Given the description of an element on the screen output the (x, y) to click on. 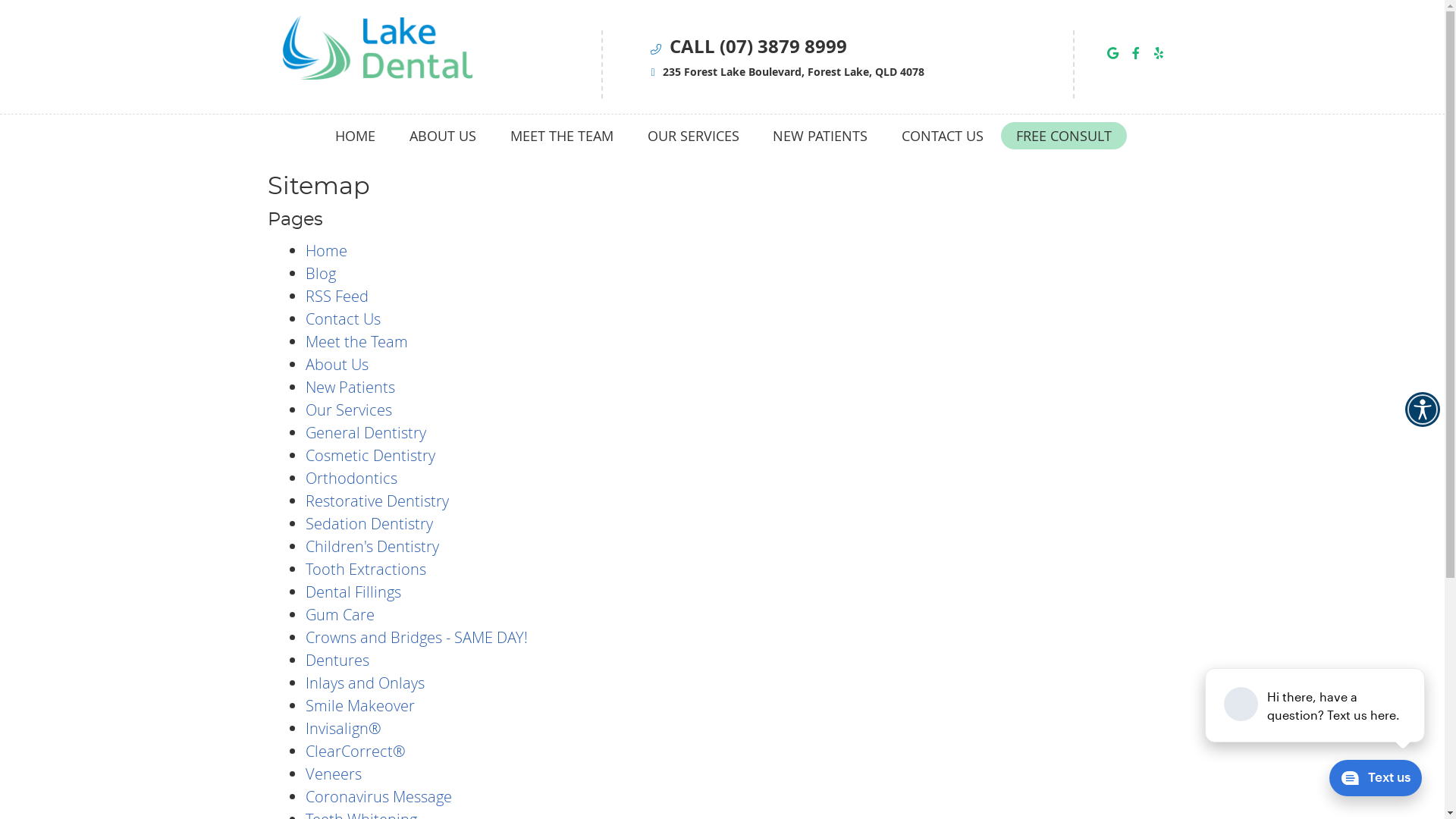
About Us Element type: text (335, 364)
Children's Dentistry Element type: text (371, 546)
Sedation Dentistry Element type: text (368, 523)
Smile Makeover Element type: text (359, 705)
ABOUT US Element type: text (442, 135)
New Patients Element type: text (349, 386)
Home Element type: text (325, 250)
Dental Fillings Element type: text (352, 591)
Lake Dental Element type: text (376, 73)
Crowns and Bridges - SAME DAY! Element type: text (415, 637)
Dentures Element type: text (336, 659)
FREE CONSULT Element type: text (1063, 135)
Veneers Element type: text (332, 773)
NEW PATIENTS Element type: text (819, 135)
CONTACT US Element type: text (942, 135)
Restorative Dentistry Element type: text (376, 500)
MEET THE TEAM Element type: text (561, 135)
Contact Us Element type: text (341, 318)
Our Services Element type: text (347, 409)
(07) 3879 8999 Element type: text (782, 46)
Cosmetic Dentistry Element type: text (369, 455)
Inlays and Onlays Element type: text (363, 682)
HOME Element type: text (355, 135)
Coronavirus Message Element type: text (377, 796)
Google Social Button Element type: text (1113, 52)
Orthodontics Element type: text (350, 477)
Gum Care Element type: text (338, 614)
Meet the Team Element type: text (355, 341)
Facebook Social Button Element type: text (1135, 52)
Tooth Extractions Element type: text (364, 568)
Blog Element type: text (319, 273)
Yelp Social Button Element type: text (1158, 52)
OUR SERVICES Element type: text (693, 135)
RSS Feed Element type: text (335, 295)
podium webchat widget prompt Element type: hover (1315, 705)
General Dentistry Element type: text (364, 432)
